Given the description of an element on the screen output the (x, y) to click on. 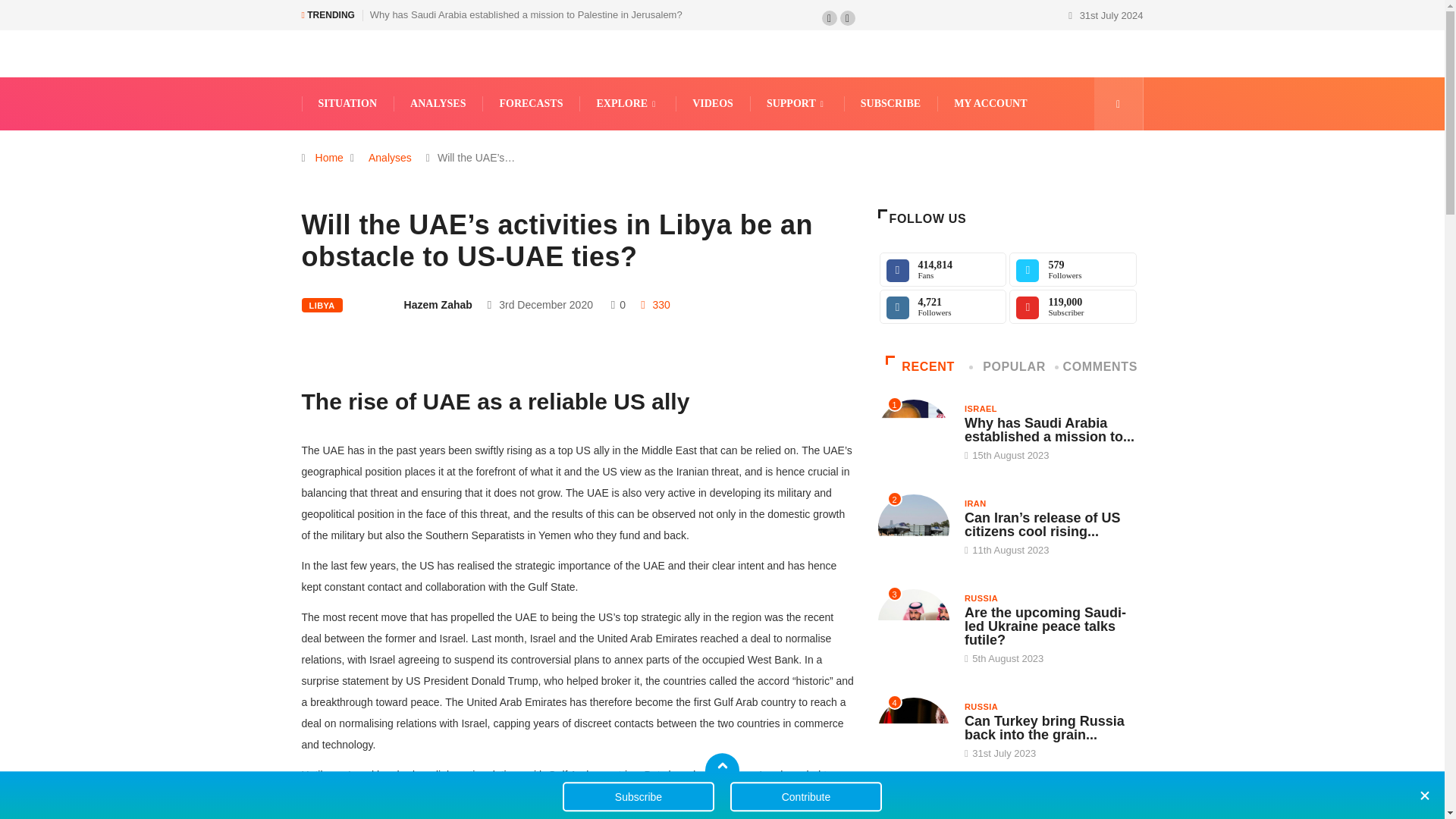
ANALYSES (437, 103)
FORECASTS (530, 103)
EXPLORE (627, 103)
SITUATION (347, 103)
